Given the description of an element on the screen output the (x, y) to click on. 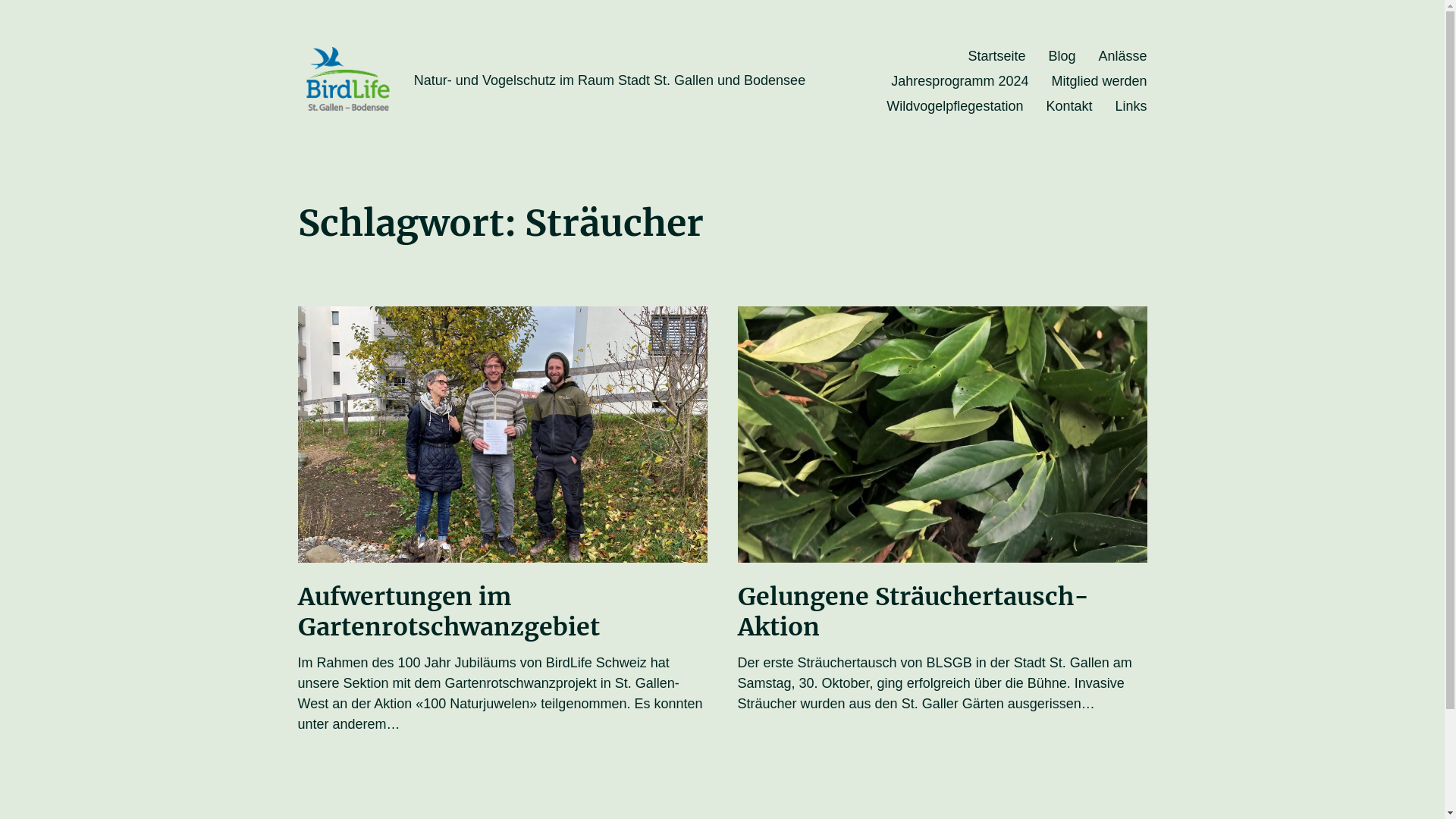
Wildvogelpflegestation Element type: text (954, 105)
Kontakt Element type: text (1068, 105)
Jahresprogramm 2024 Element type: text (959, 80)
Links Element type: text (1130, 105)
Blog Element type: text (1061, 55)
Mitglied werden Element type: text (1098, 80)
Startseite Element type: text (996, 55)
Aufwertungen im Gartenrotschwanzgebiet Element type: text (448, 610)
